Given the description of an element on the screen output the (x, y) to click on. 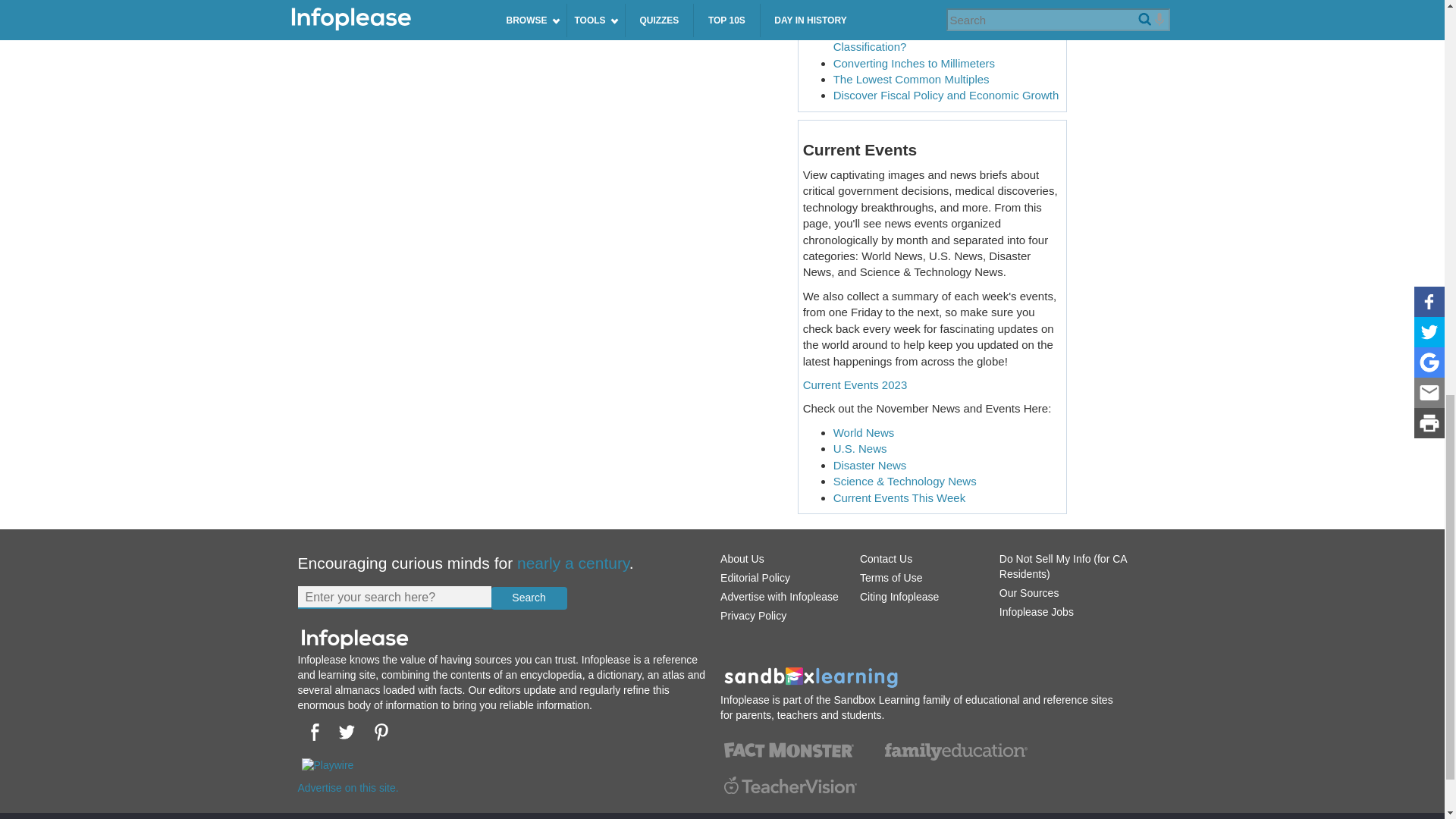
Search (529, 598)
